Given the description of an element on the screen output the (x, y) to click on. 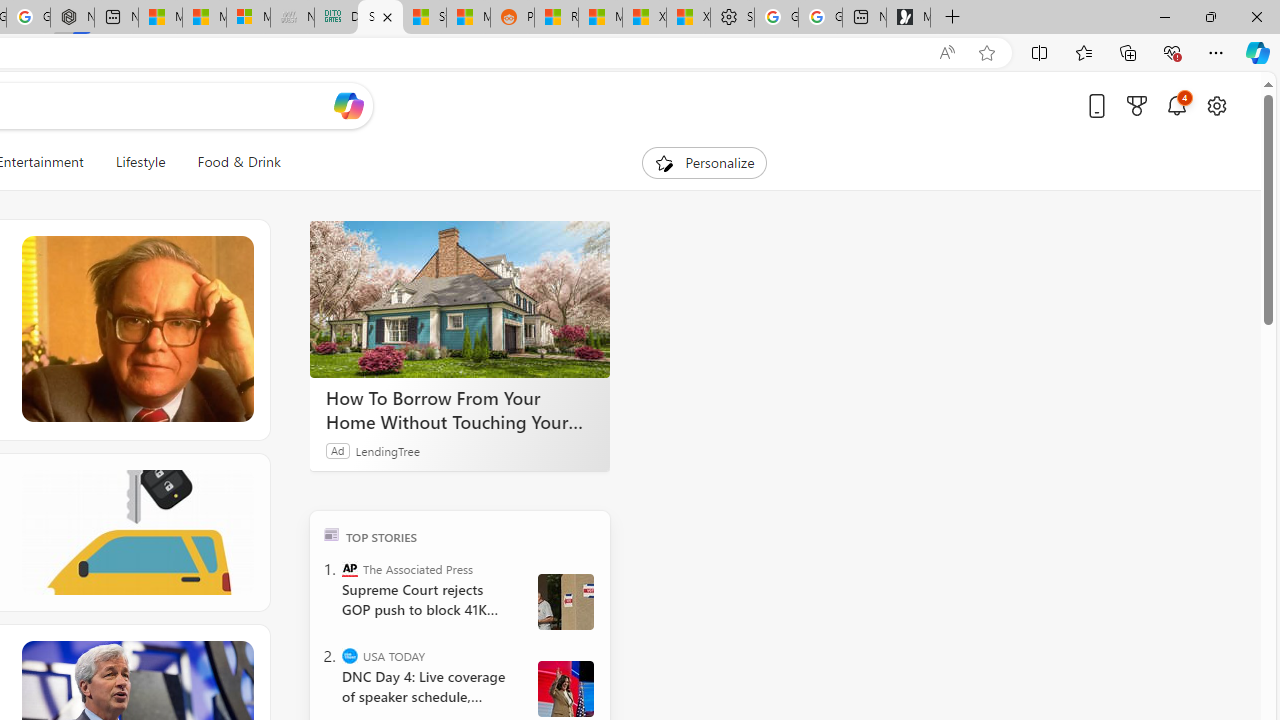
To get missing image descriptions, open the context menu. (664, 162)
Open Copilot (347, 105)
Food & Drink (230, 162)
Stocks - MSN (424, 17)
Personalize (703, 162)
Open Copilot (347, 105)
